Given the description of an element on the screen output the (x, y) to click on. 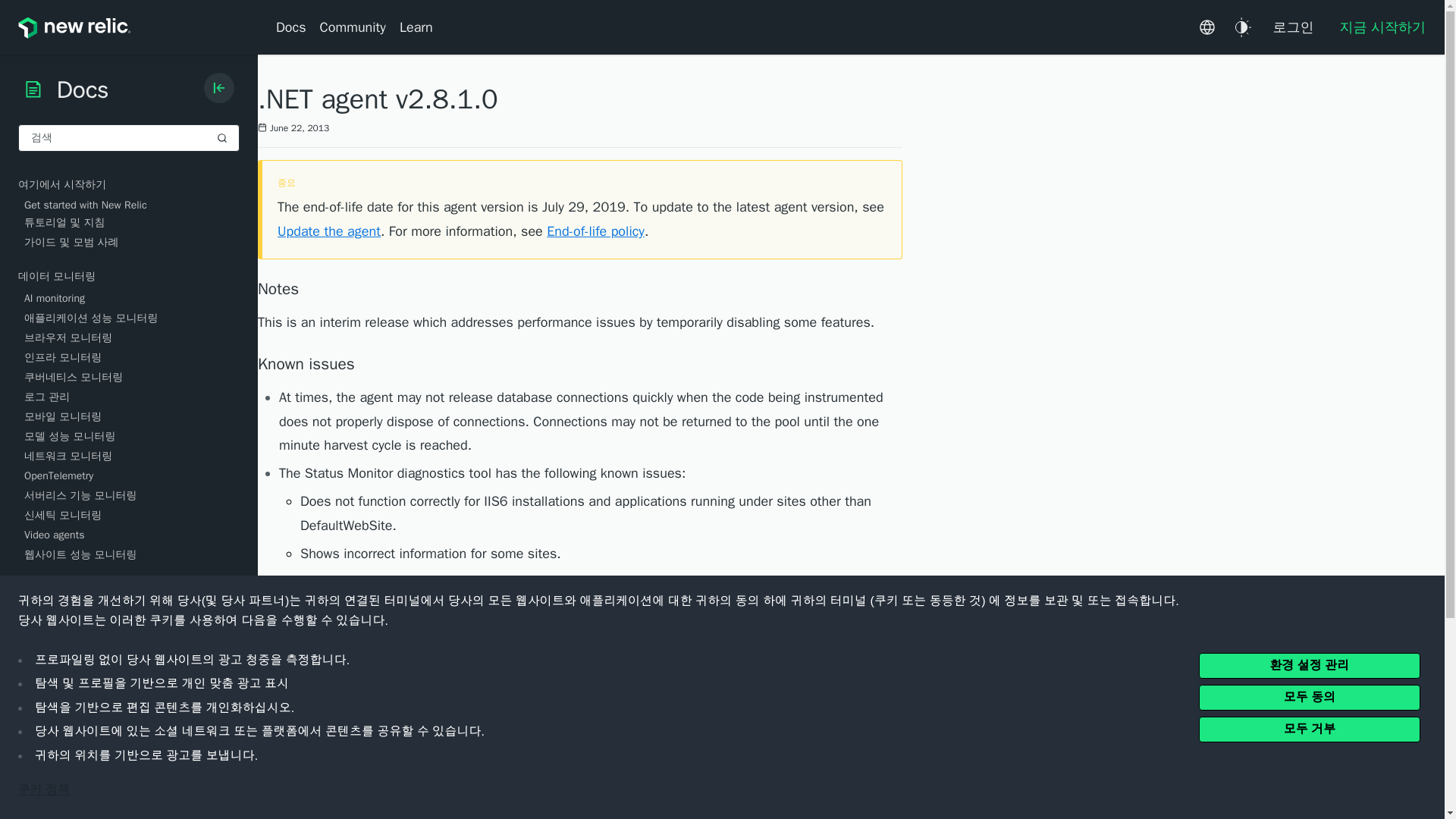
Get started with New Relic (131, 204)
Learn (416, 27)
Community (353, 27)
Docs (294, 27)
